Given the description of an element on the screen output the (x, y) to click on. 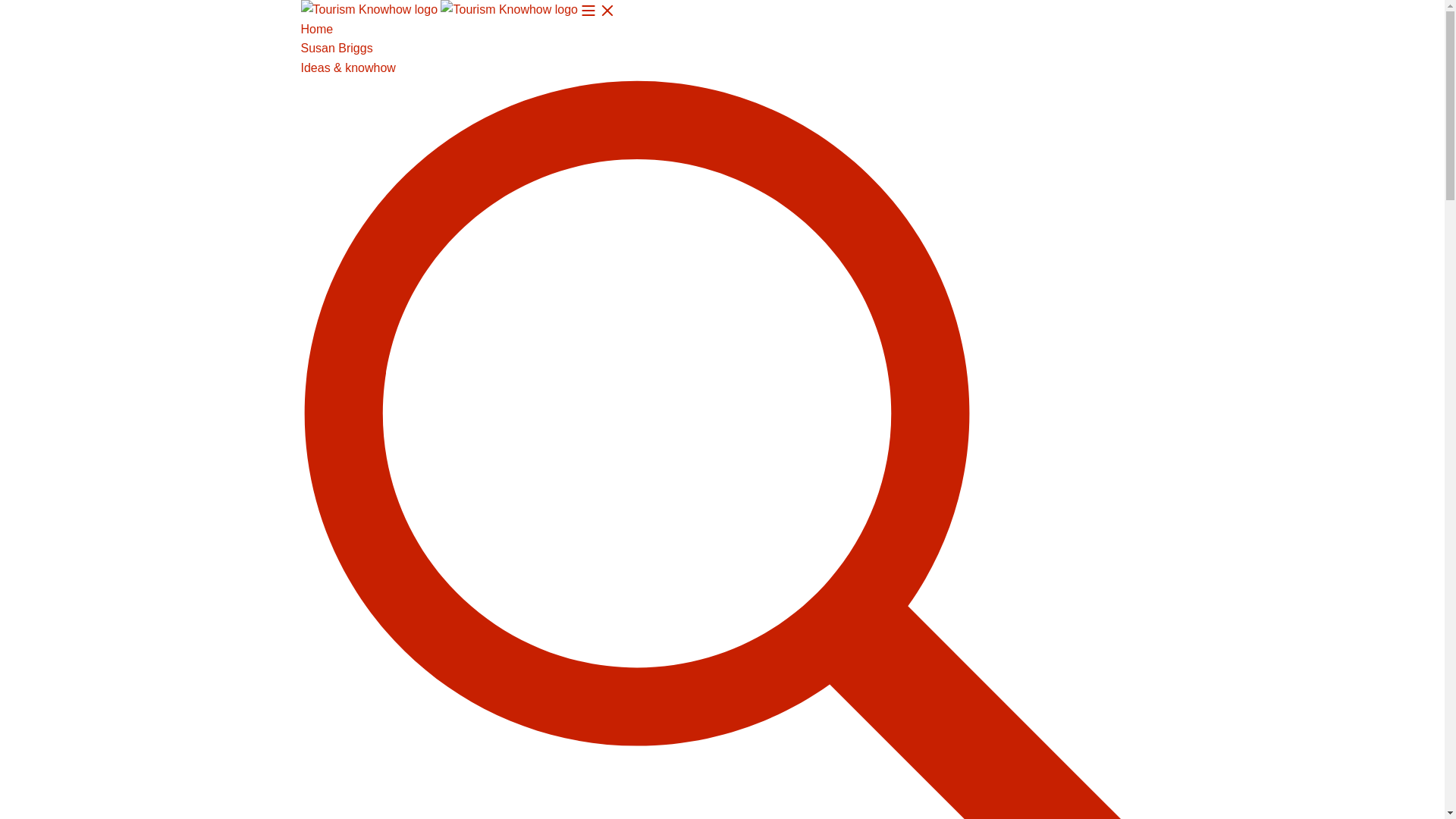
Home (316, 29)
Susan Briggs (335, 47)
